Given the description of an element on the screen output the (x, y) to click on. 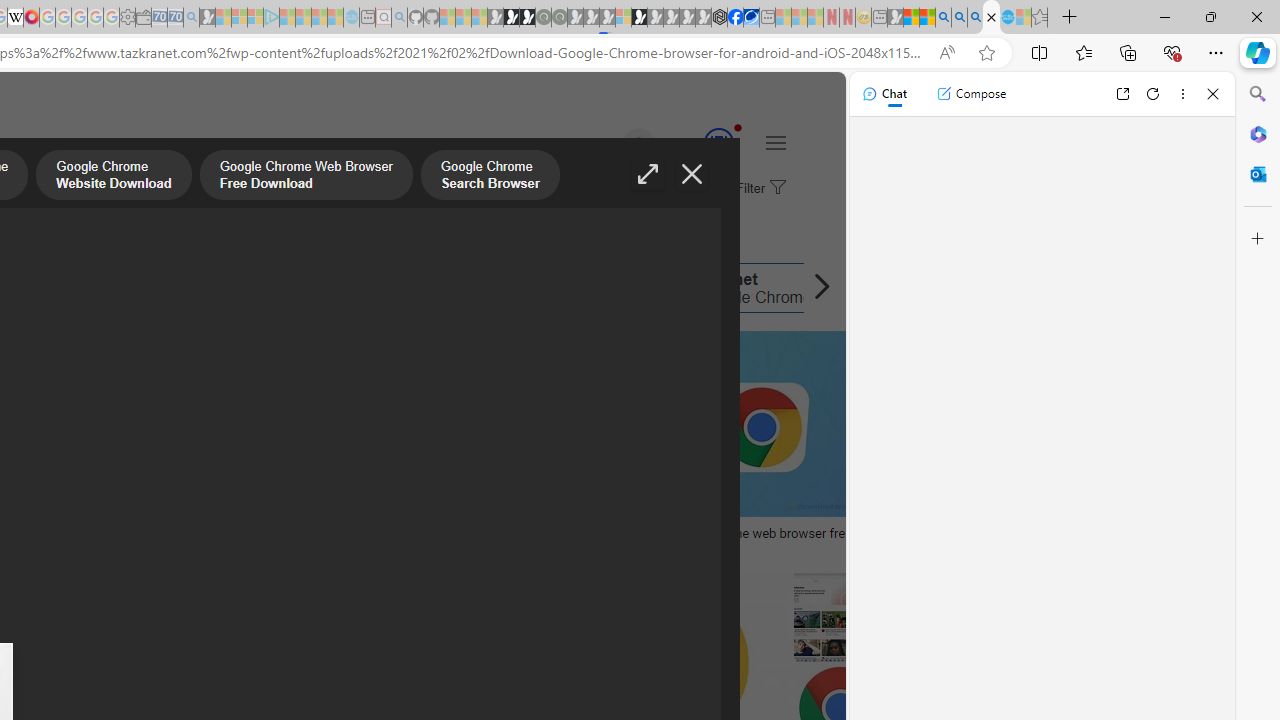
Filter (758, 189)
Settings and quick links (775, 142)
Google chrome web browser free download for Mac and Window (817, 541)
How to download & install Chrome on Windows 10 /11 (475, 533)
Nordace - Cooler Bags (719, 17)
